Given the description of an element on the screen output the (x, y) to click on. 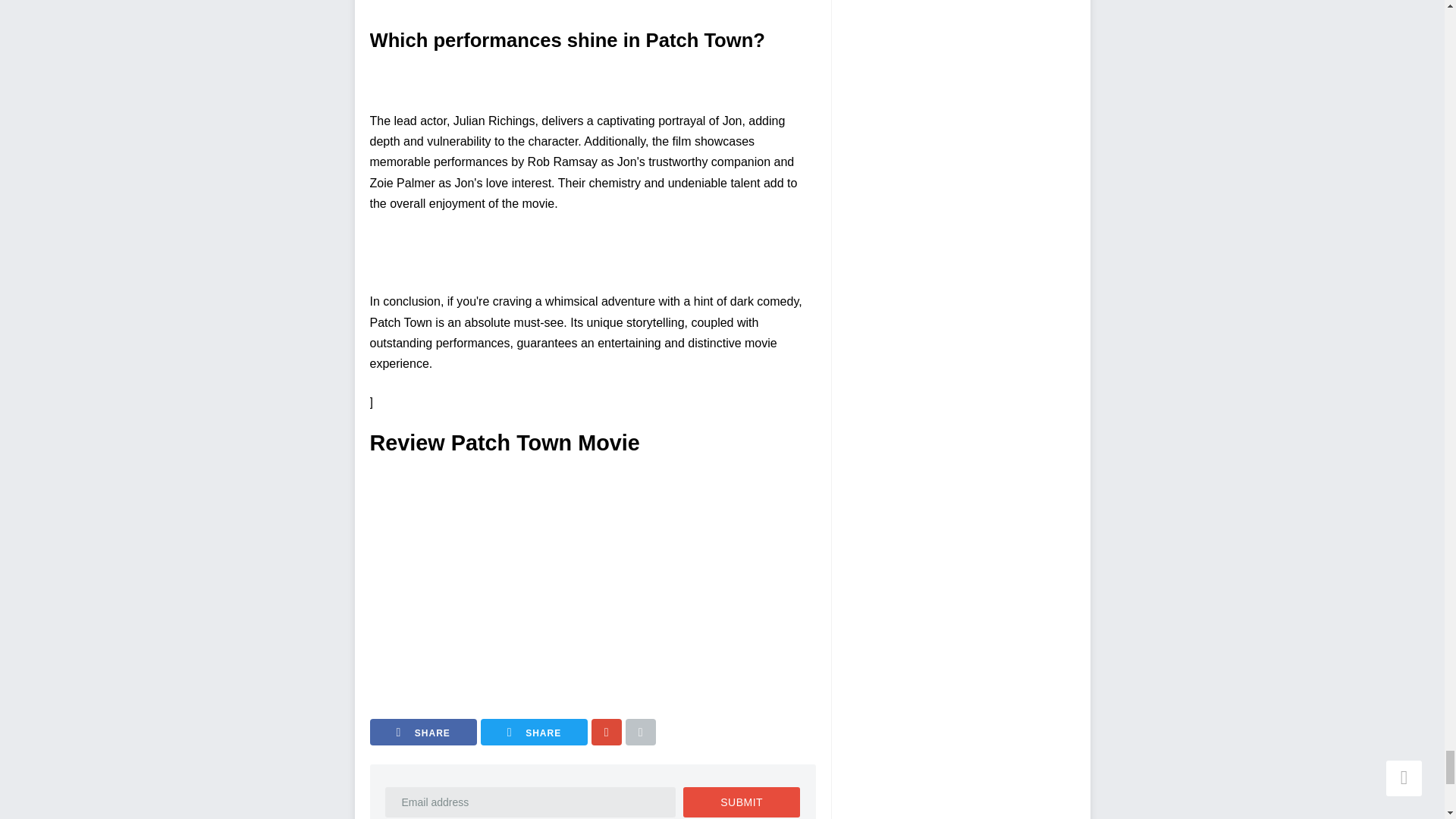
SHARE (423, 732)
Submit (740, 802)
SHARE (534, 732)
Submit (740, 802)
Share to Twitter (534, 732)
Email address (531, 802)
Share to Facebook (423, 732)
Review Patch Town Movie (581, 574)
